Given the description of an element on the screen output the (x, y) to click on. 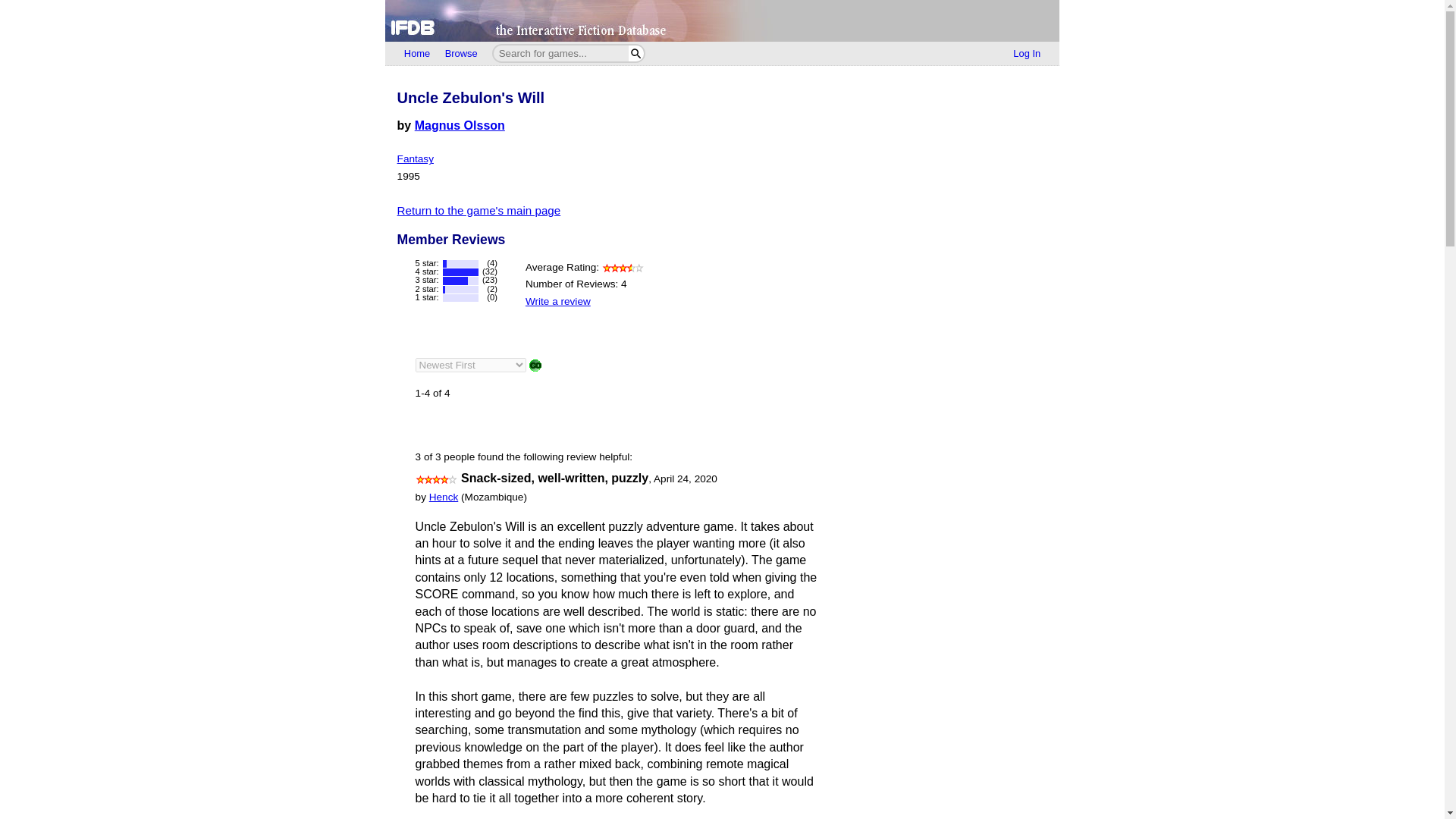
Write a review (558, 301)
Magnus Olsson (459, 124)
Browse (461, 53)
Henck (443, 496)
Fantasy (415, 158)
4 Stars (436, 479)
Return to the game's main page (478, 210)
Home (417, 53)
Log In (1027, 53)
